Given the description of an element on the screen output the (x, y) to click on. 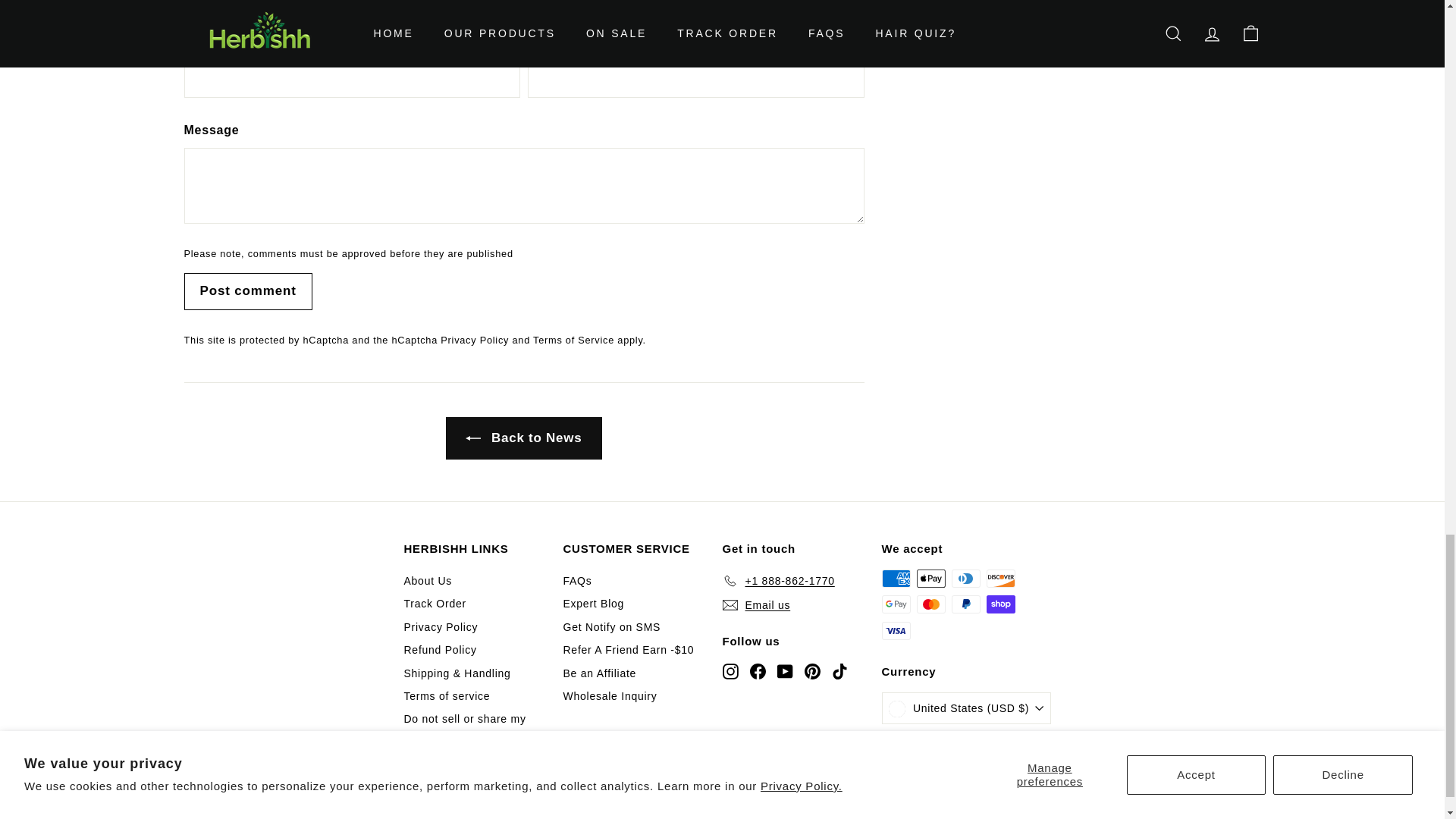
herbishh.com   on YouTube (784, 670)
Apple Pay (929, 578)
herbishh.com   on Instagram (730, 670)
herbishh.com   on TikTok (839, 670)
herbishh.com   on Pinterest (811, 670)
Diners Club (964, 578)
Google Pay (895, 604)
PayPal (964, 604)
herbishh.com   on Facebook (757, 670)
Discover (999, 578)
American Express (895, 578)
Mastercard (929, 604)
